Given the description of an element on the screen output the (x, y) to click on. 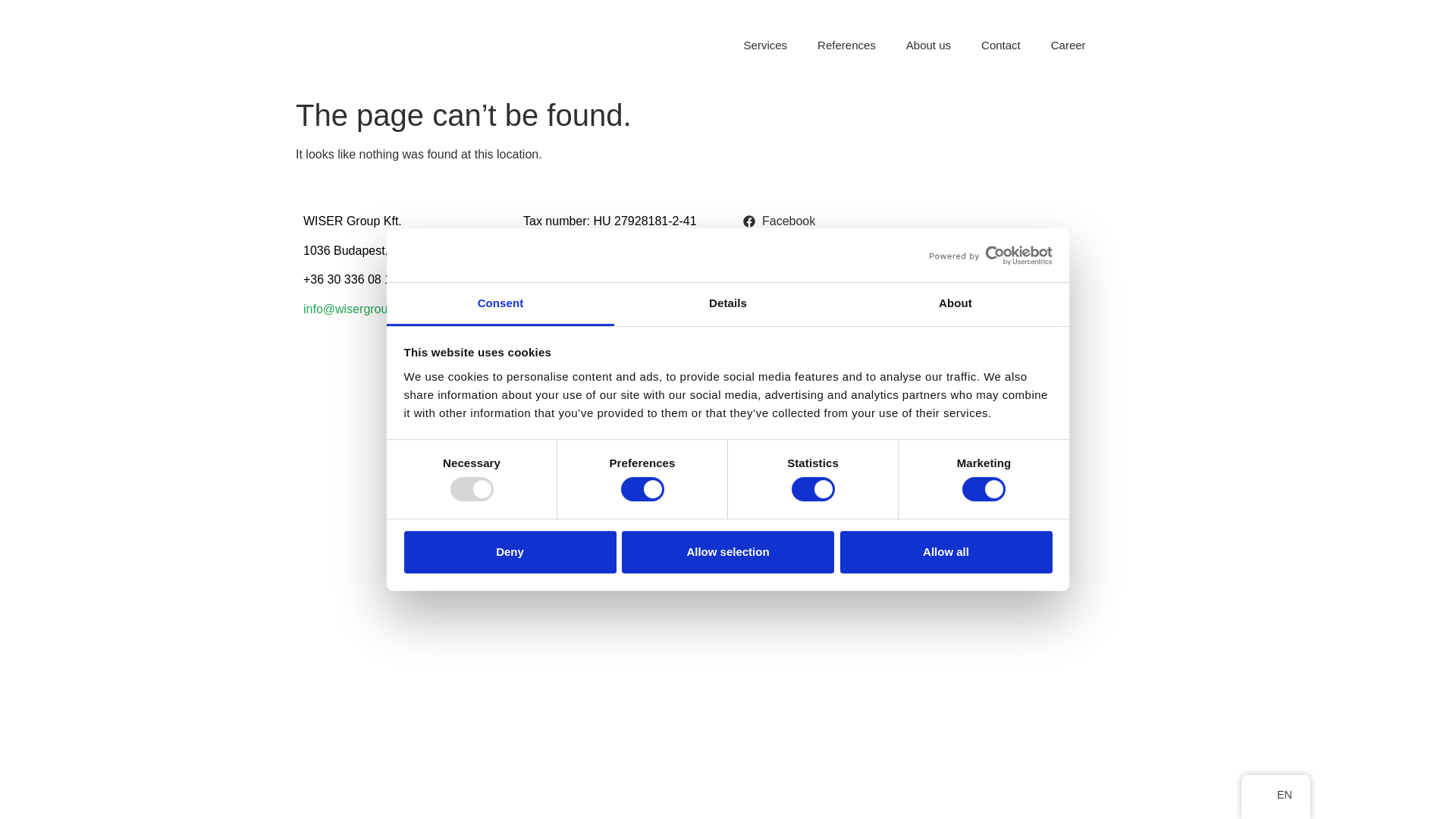
Details (727, 303)
About (954, 303)
Consent (500, 303)
